Given the description of an element on the screen output the (x, y) to click on. 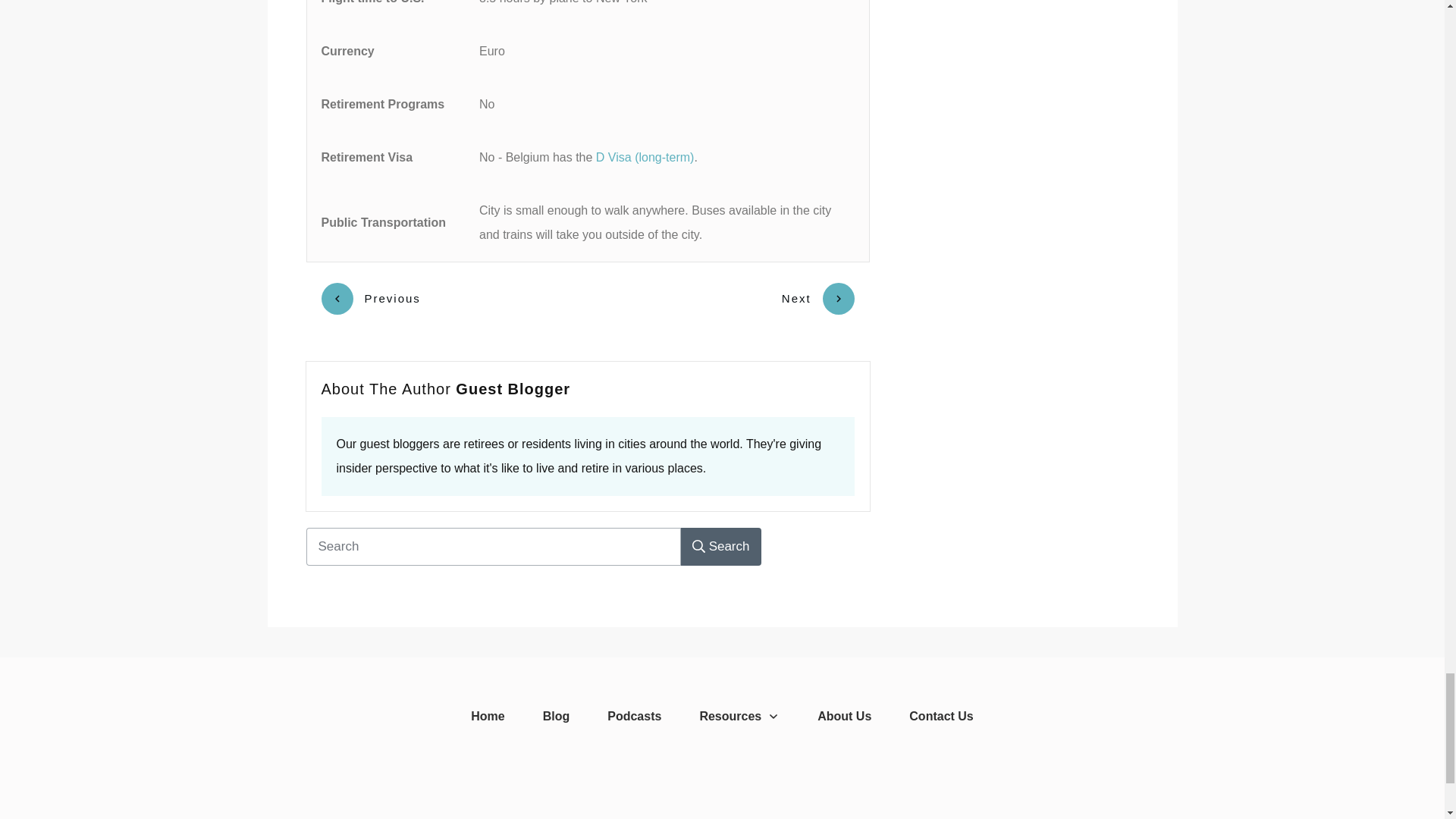
Next (817, 298)
Previous (370, 298)
Podcasts (634, 716)
Guest Blogger (512, 388)
Blog (556, 716)
Guest Blogger (512, 388)
Search (721, 546)
Home (486, 716)
